Given the description of an element on the screen output the (x, y) to click on. 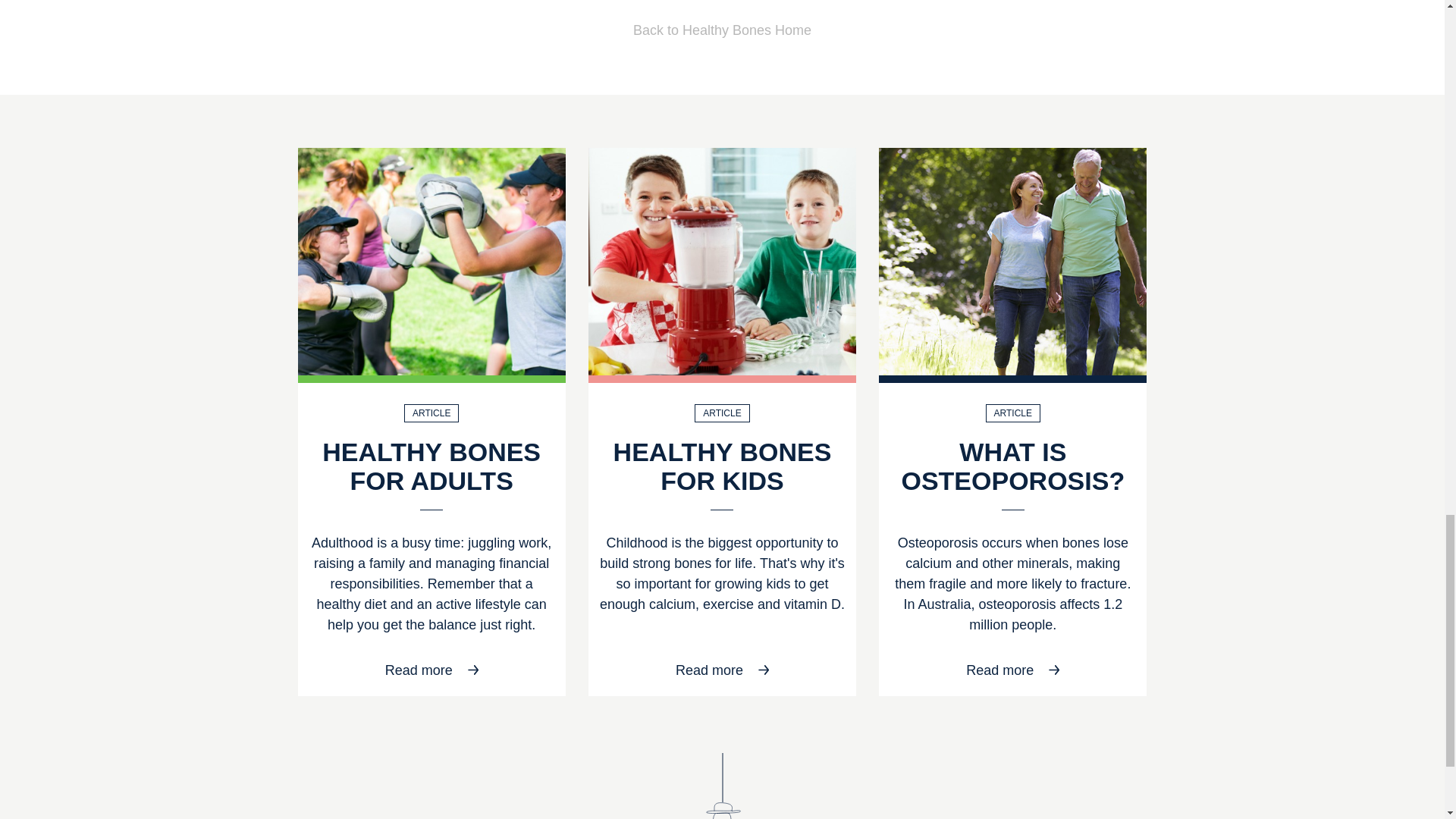
Healthy Bones Action Week for Adults (430, 261)
